Given the description of an element on the screen output the (x, y) to click on. 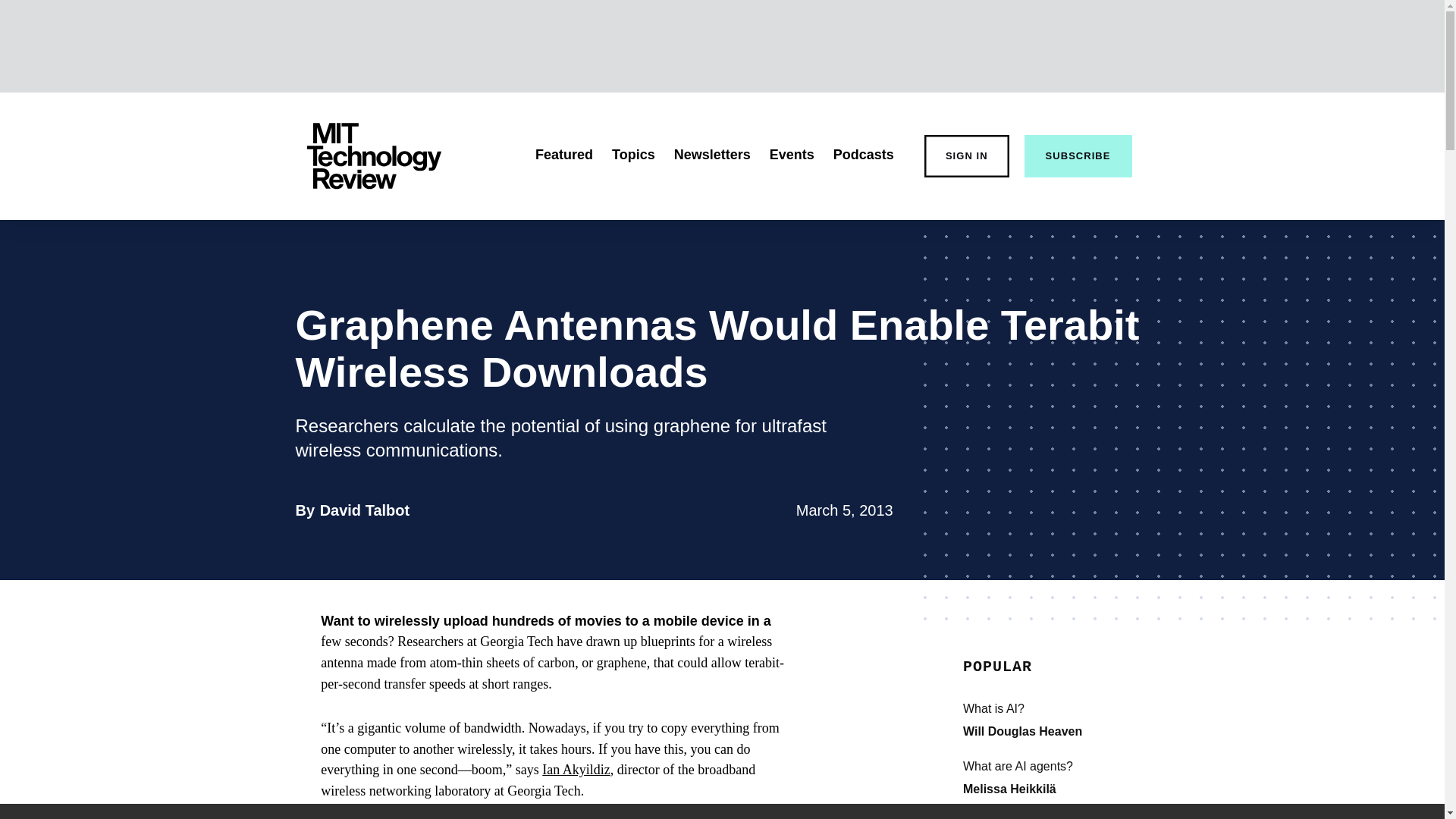
Featured (563, 154)
What is AI? (365, 510)
How to fix a Windows PC affected by the global outage (1075, 709)
What are AI agents?  (1075, 817)
Topics (1075, 766)
Will Douglas Heaven (633, 154)
Podcasts (1021, 730)
Events (862, 154)
SUBSCRIBE (791, 154)
